Given the description of an element on the screen output the (x, y) to click on. 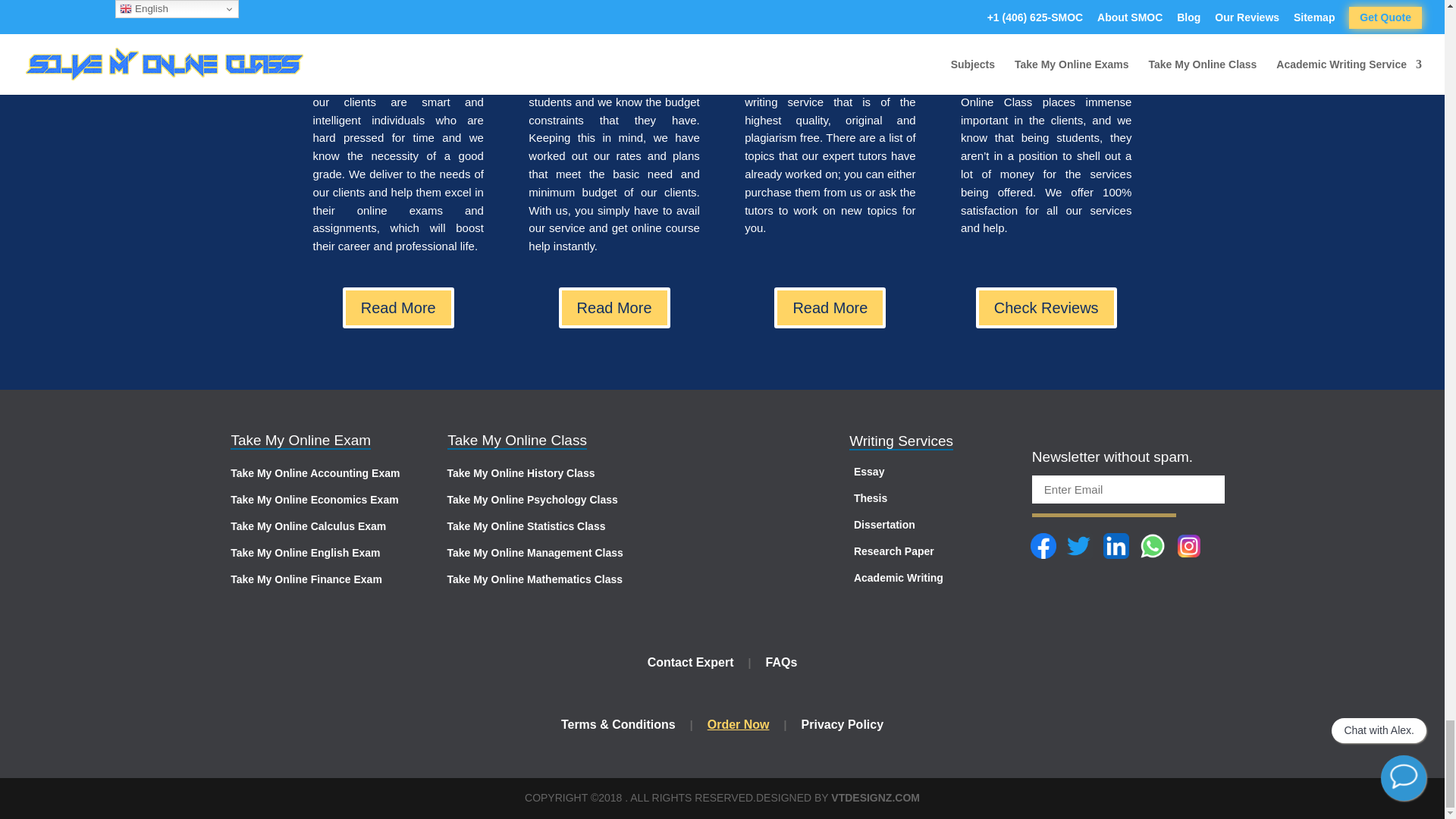
Subscribe Now (1104, 503)
